Given the description of an element on the screen output the (x, y) to click on. 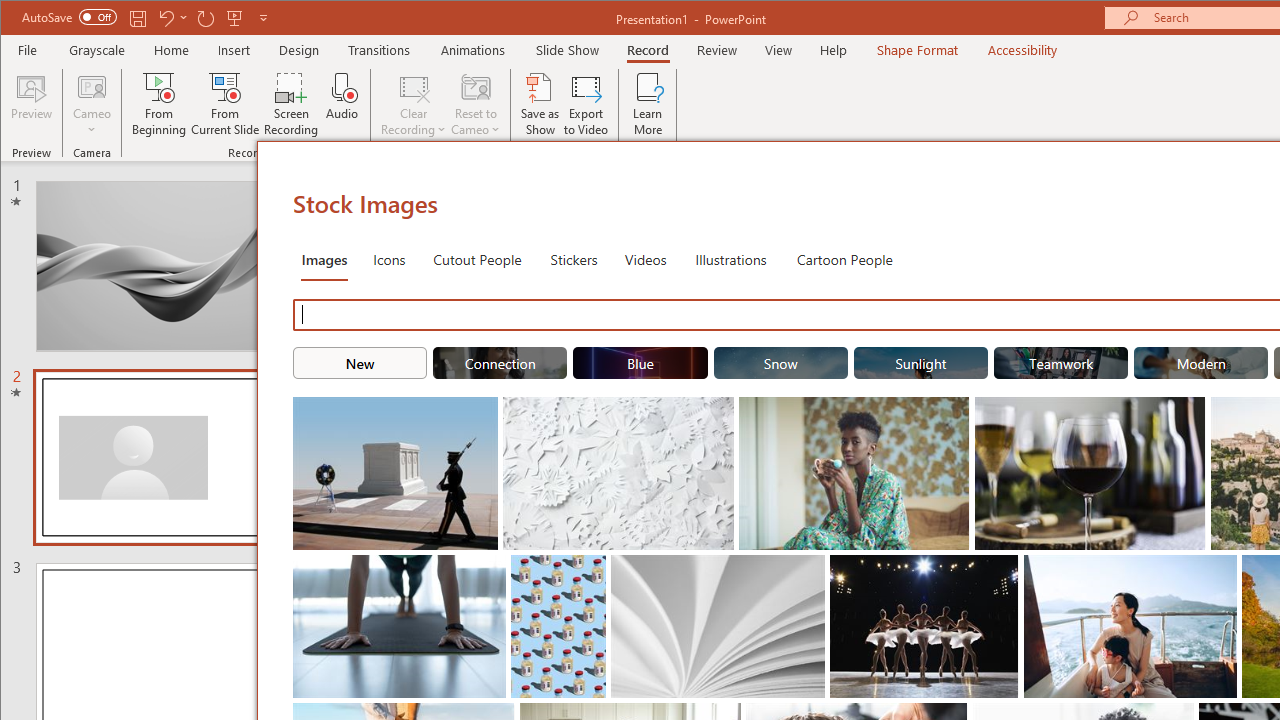
Videos (645, 258)
Cutout People (477, 258)
Learn More (648, 104)
Illustrations (730, 258)
